Given the description of an element on the screen output the (x, y) to click on. 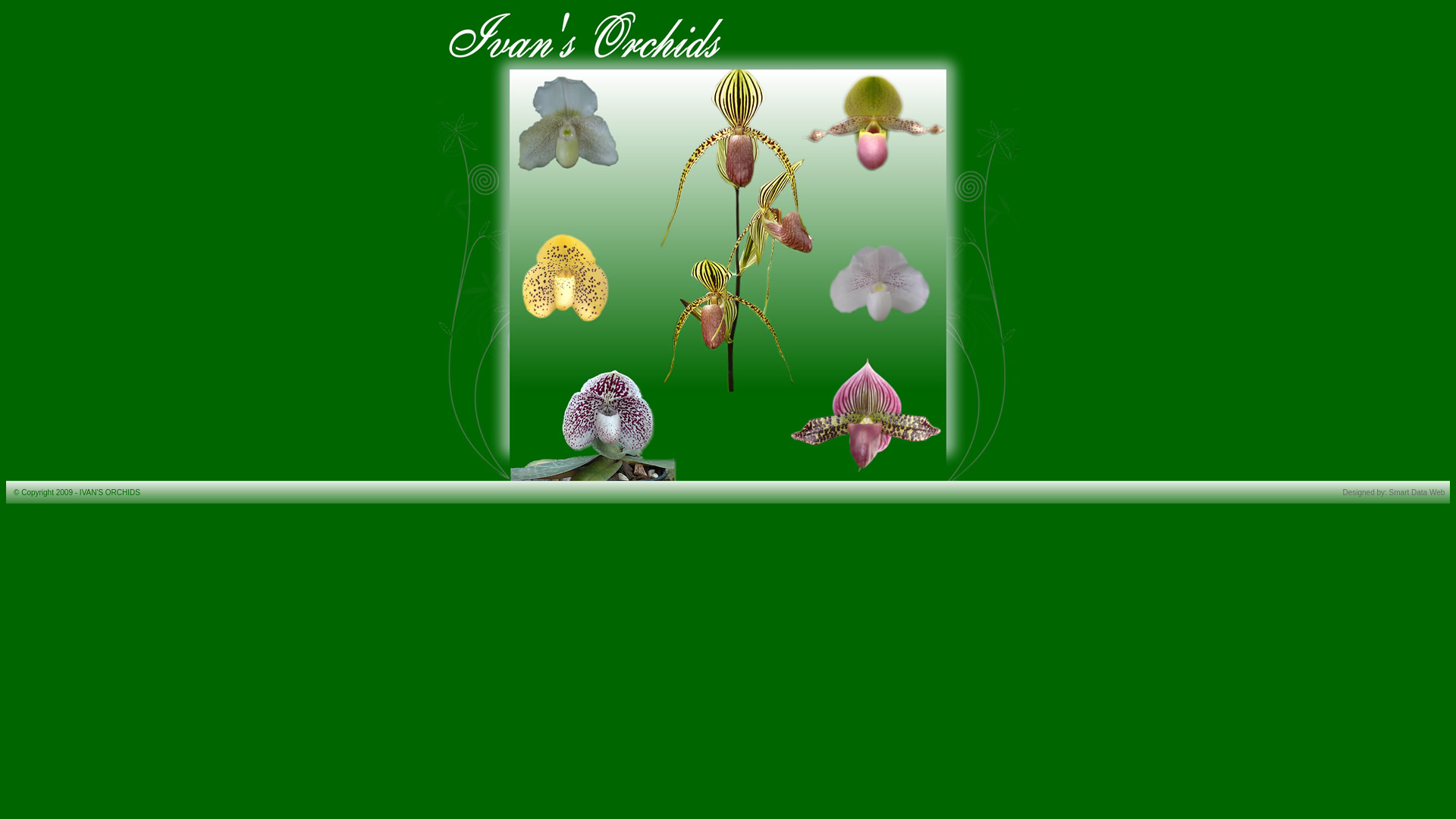
Welcome to Ivan's Orchids website Element type: hover (727, 475)
Designed by: Smart Data Web Element type: text (1393, 492)
